Given the description of an element on the screen output the (x, y) to click on. 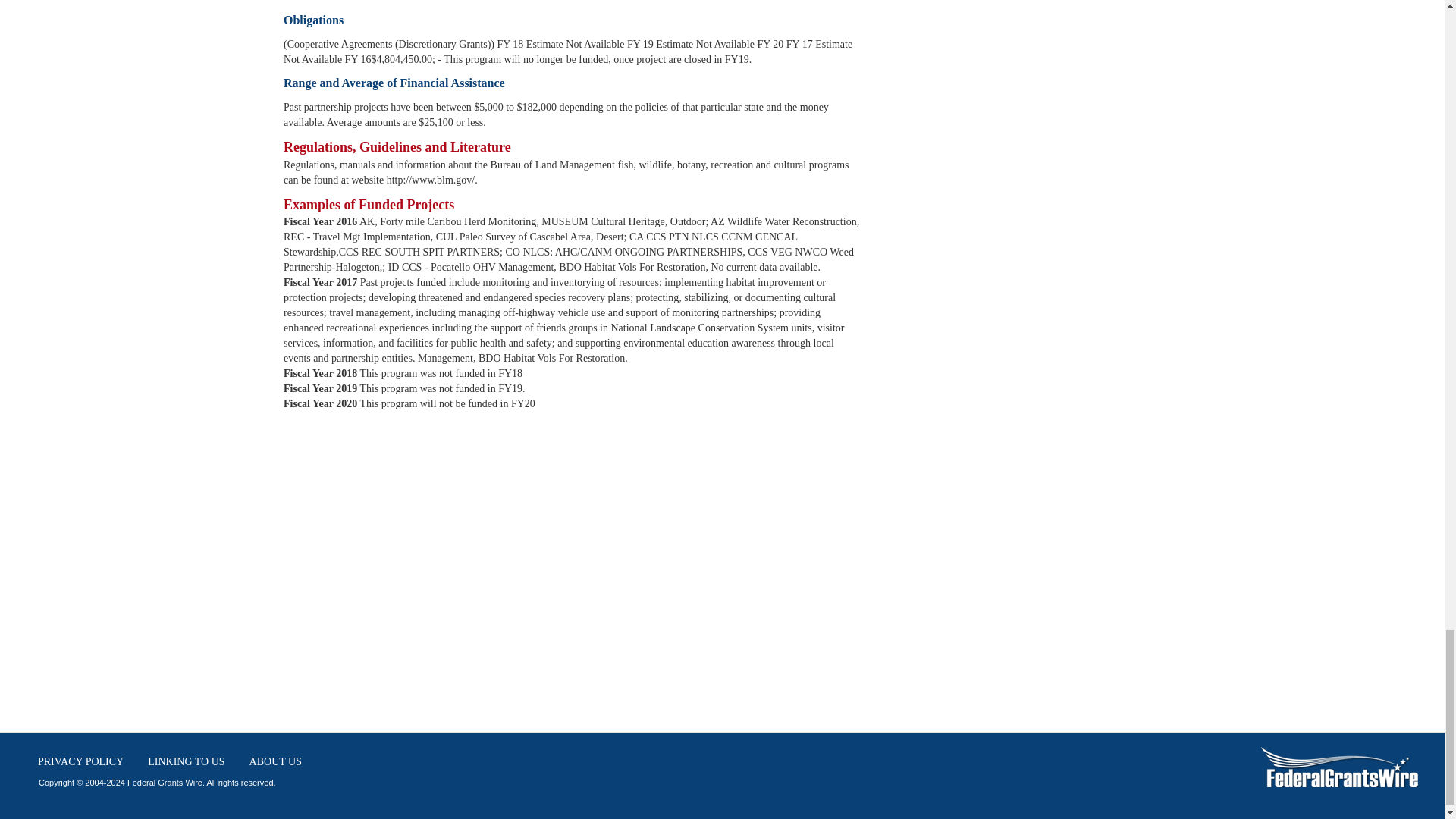
LINKING TO US (185, 761)
PRIVACY POLICY (80, 761)
ABOUT US (275, 761)
